Given the description of an element on the screen output the (x, y) to click on. 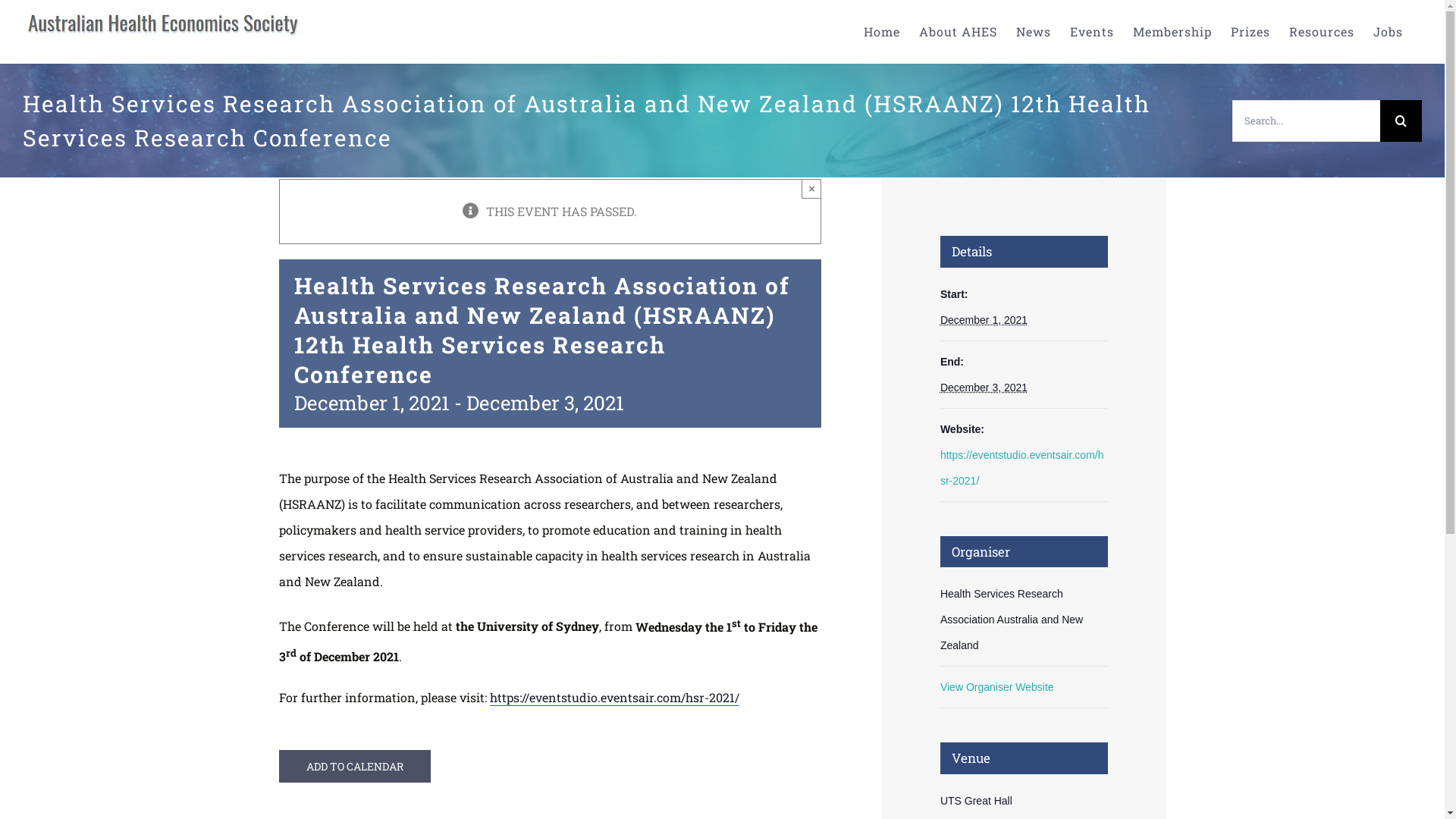
https://eventstudio.eventsair.com/hsr-2021/ Element type: text (1022, 467)
ADD TO CALENDAR Element type: text (354, 765)
Jobs Element type: text (1387, 31)
Events Element type: text (1091, 31)
Prizes Element type: text (1250, 31)
Membership Element type: text (1171, 31)
News Element type: text (1033, 31)
Resources Element type: text (1321, 31)
View Organiser Website Element type: text (997, 686)
https://eventstudio.eventsair.com/hsr-2021/ Element type: text (614, 697)
About AHES Element type: text (958, 31)
Home Element type: text (881, 31)
